Given the description of an element on the screen output the (x, y) to click on. 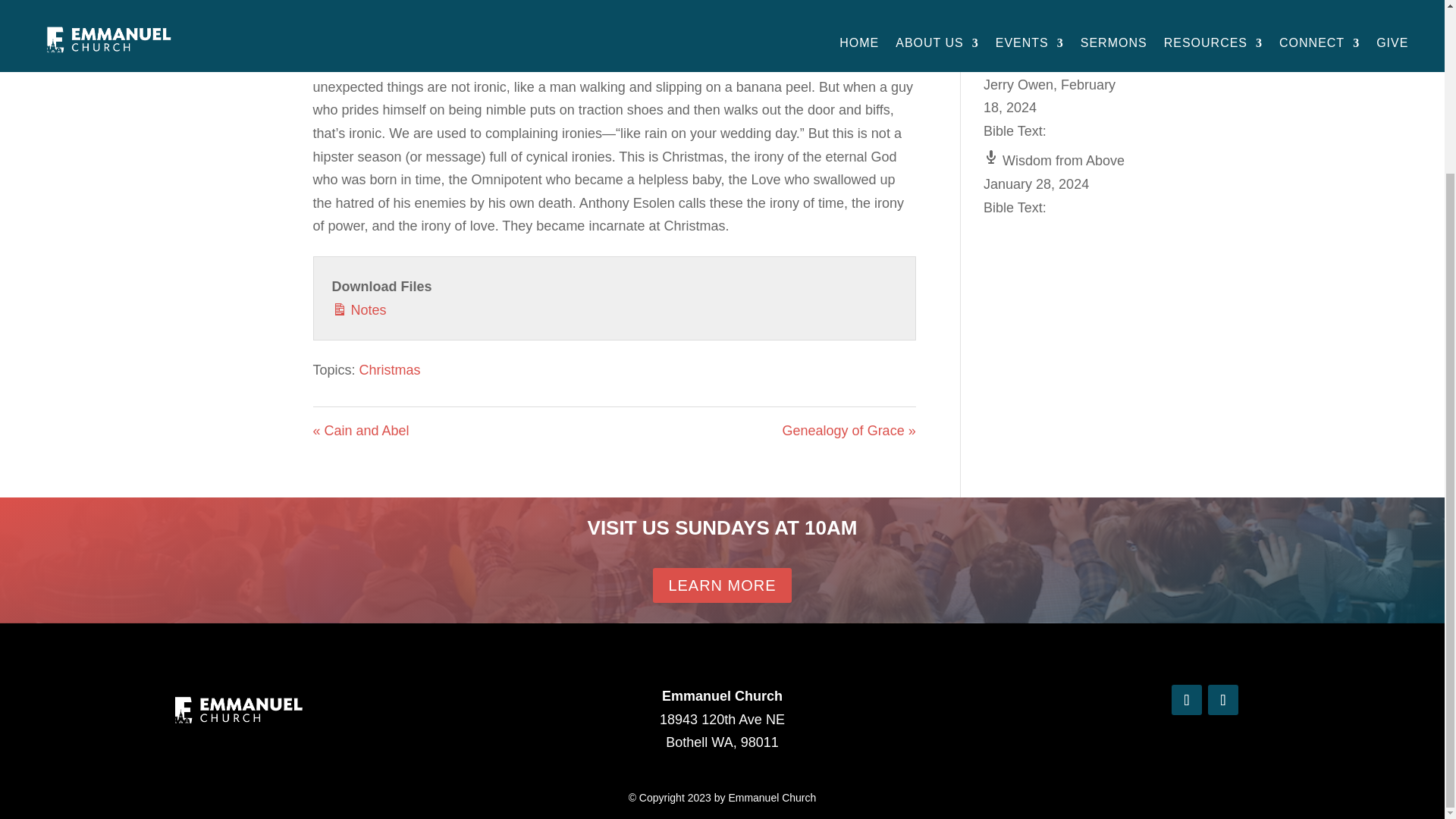
Play (457, 18)
Wisdom from Above (1054, 160)
Follow on Instagram (1223, 699)
Drawing Near to God (1057, 61)
Download Audio File (765, 19)
Mute (679, 18)
Follow on Facebook (1187, 699)
